Given the description of an element on the screen output the (x, y) to click on. 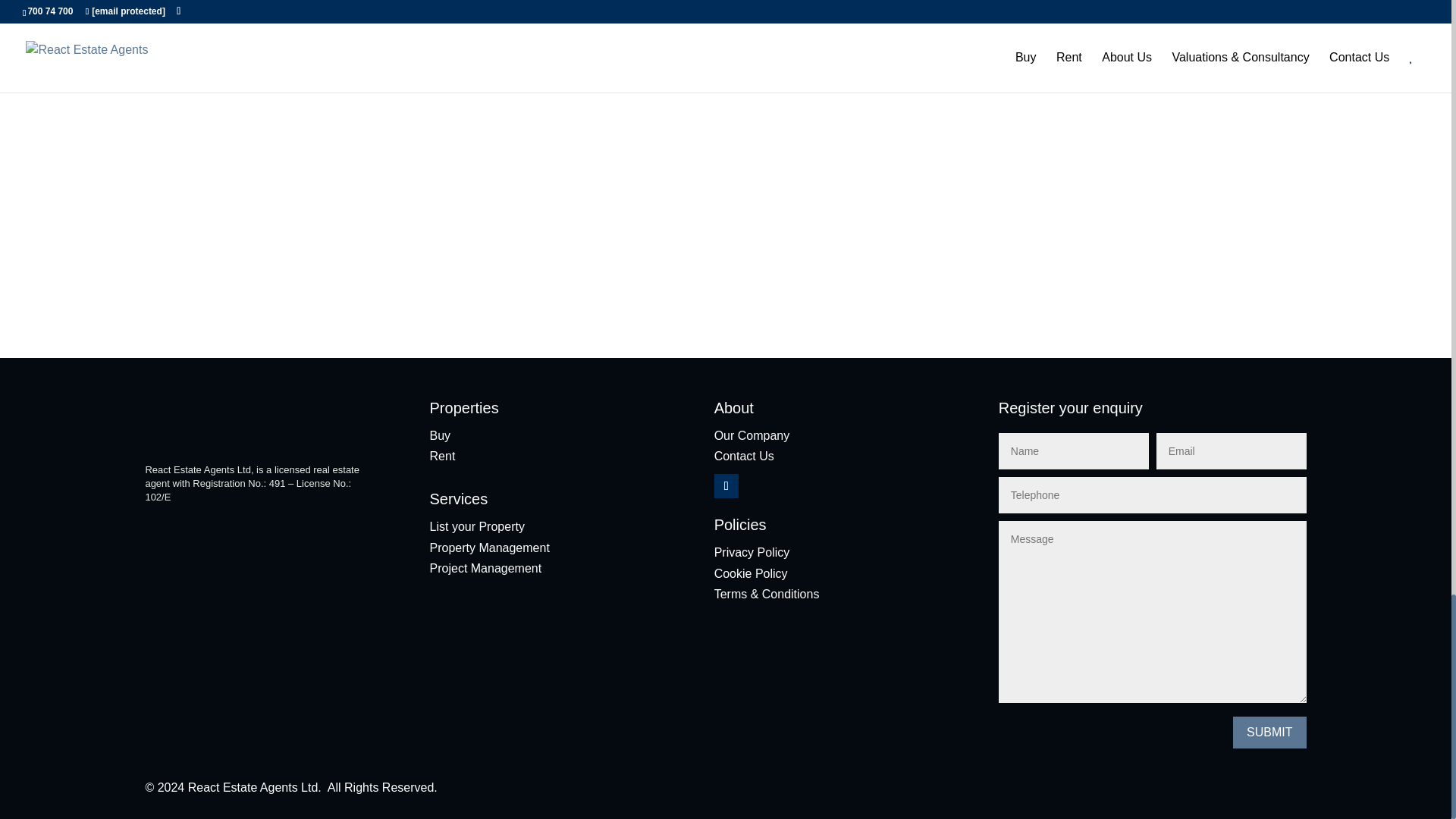
Buy (440, 435)
List your Property (476, 526)
Contact Us (744, 455)
Privacy Policy (752, 552)
Rent (442, 455)
Project Management (485, 567)
Cookie Policy (750, 573)
Our Company (752, 435)
Submit (1269, 286)
Property Management (489, 547)
Submit (1269, 732)
